Given the description of an element on the screen output the (x, y) to click on. 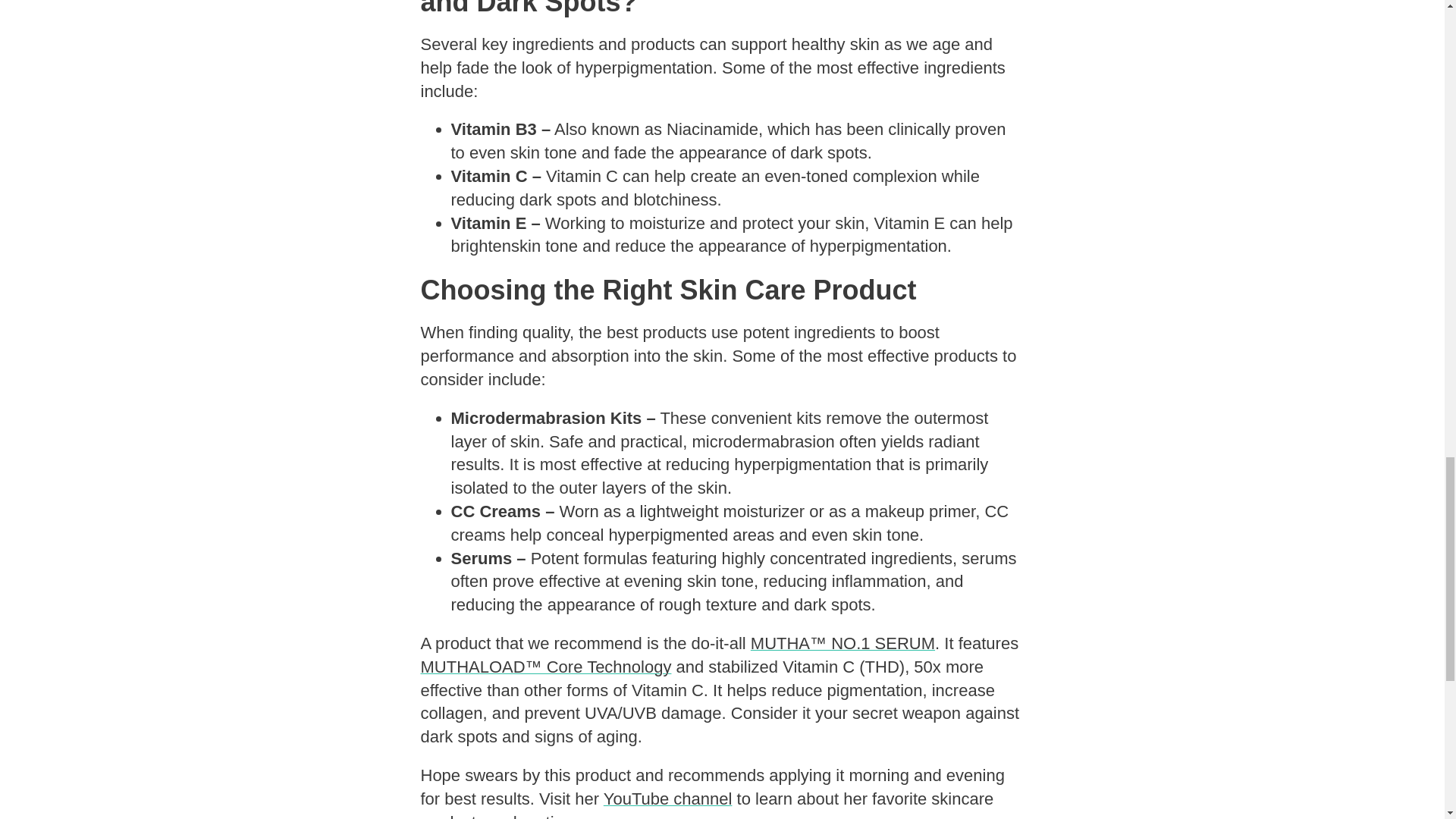
YouTube channel (668, 798)
